Given the description of an element on the screen output the (x, y) to click on. 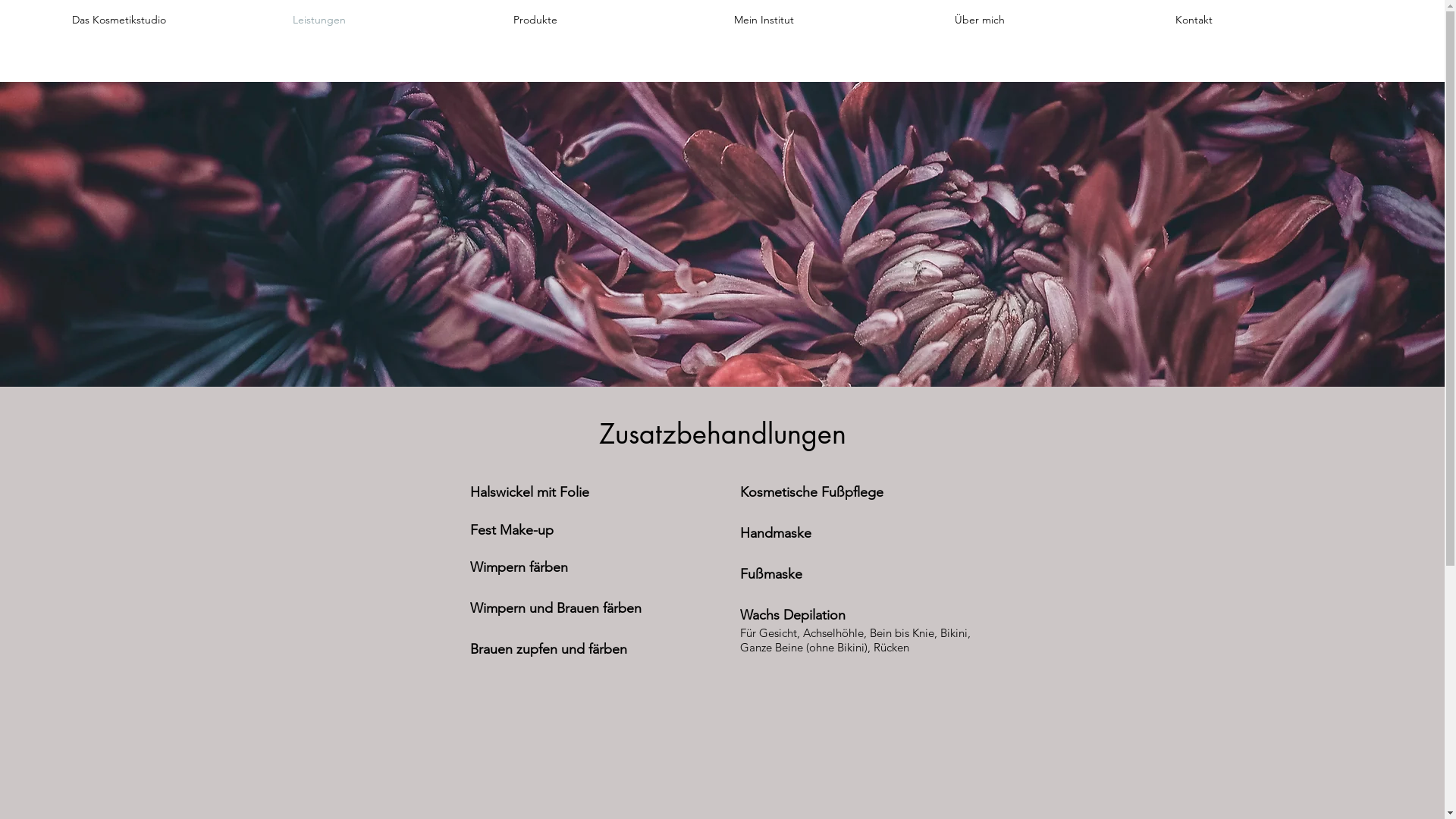
Leistungen Element type: text (391, 19)
Produkte Element type: text (612, 19)
Kontakt Element type: text (1273, 19)
Das Kosmetikstudio Element type: text (170, 19)
Mein Institut Element type: text (832, 19)
